Given the description of an element on the screen output the (x, y) to click on. 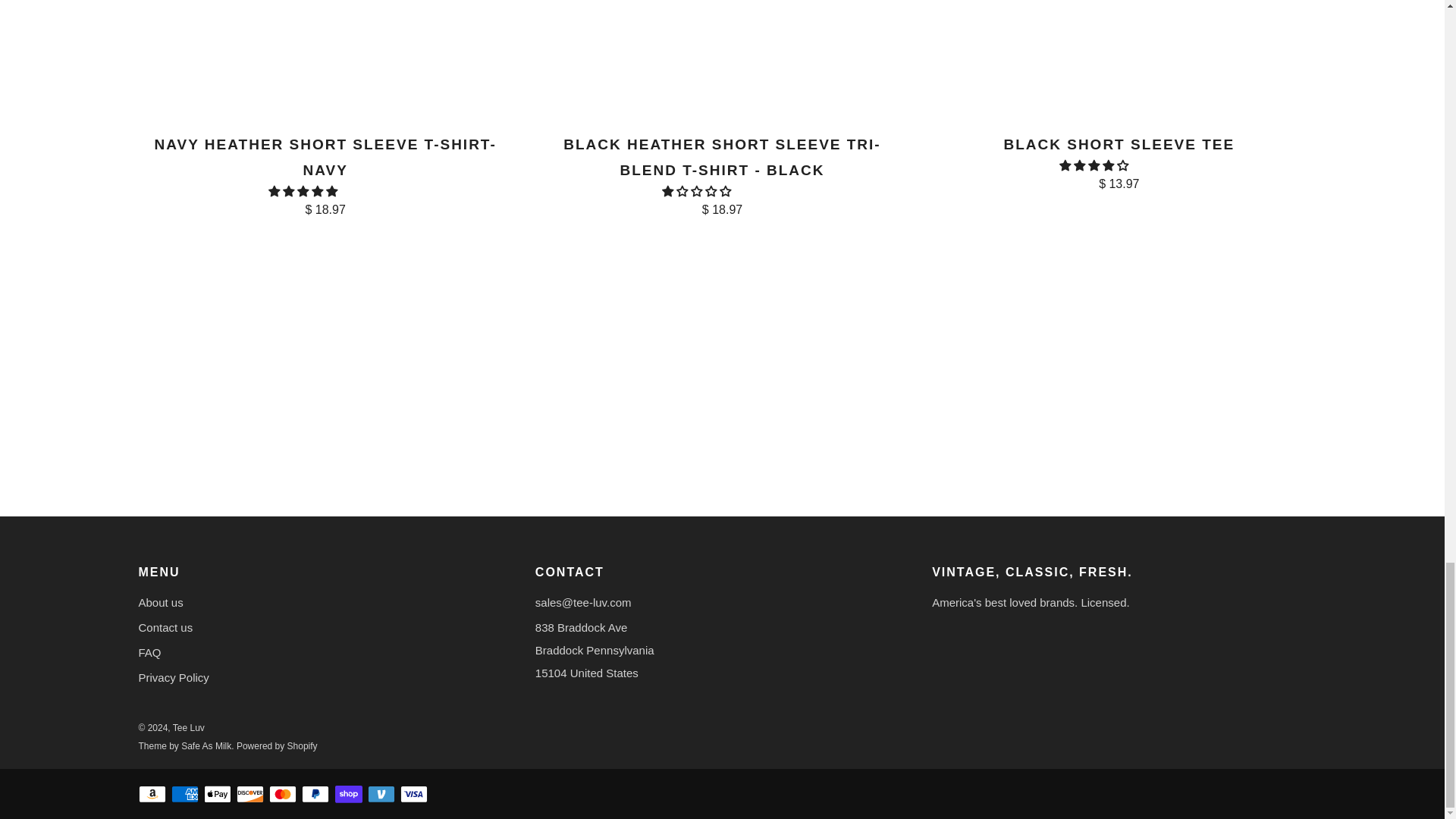
Black Heather Short Sleeve Tri-Blend T-Shirt - Black (721, 173)
Navy Heather Short Sleeve T-Shirt- Navy (325, 173)
Black Short Sleeve Tee (1118, 160)
